Given the description of an element on the screen output the (x, y) to click on. 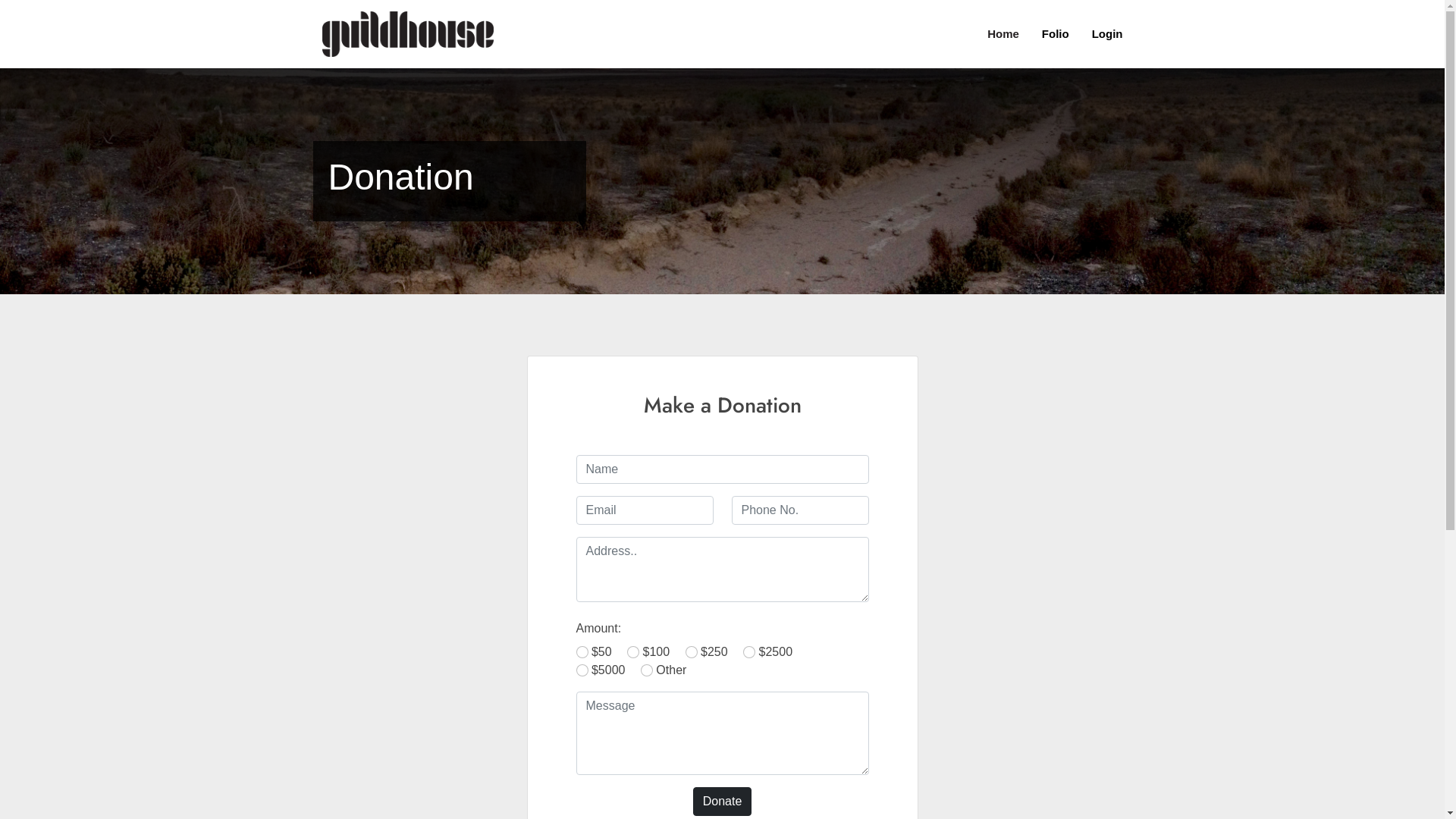
Donate Element type: text (722, 801)
Folio Element type: text (1044, 34)
Home Element type: text (991, 34)
Login Element type: text (1096, 34)
